Given the description of an element on the screen output the (x, y) to click on. 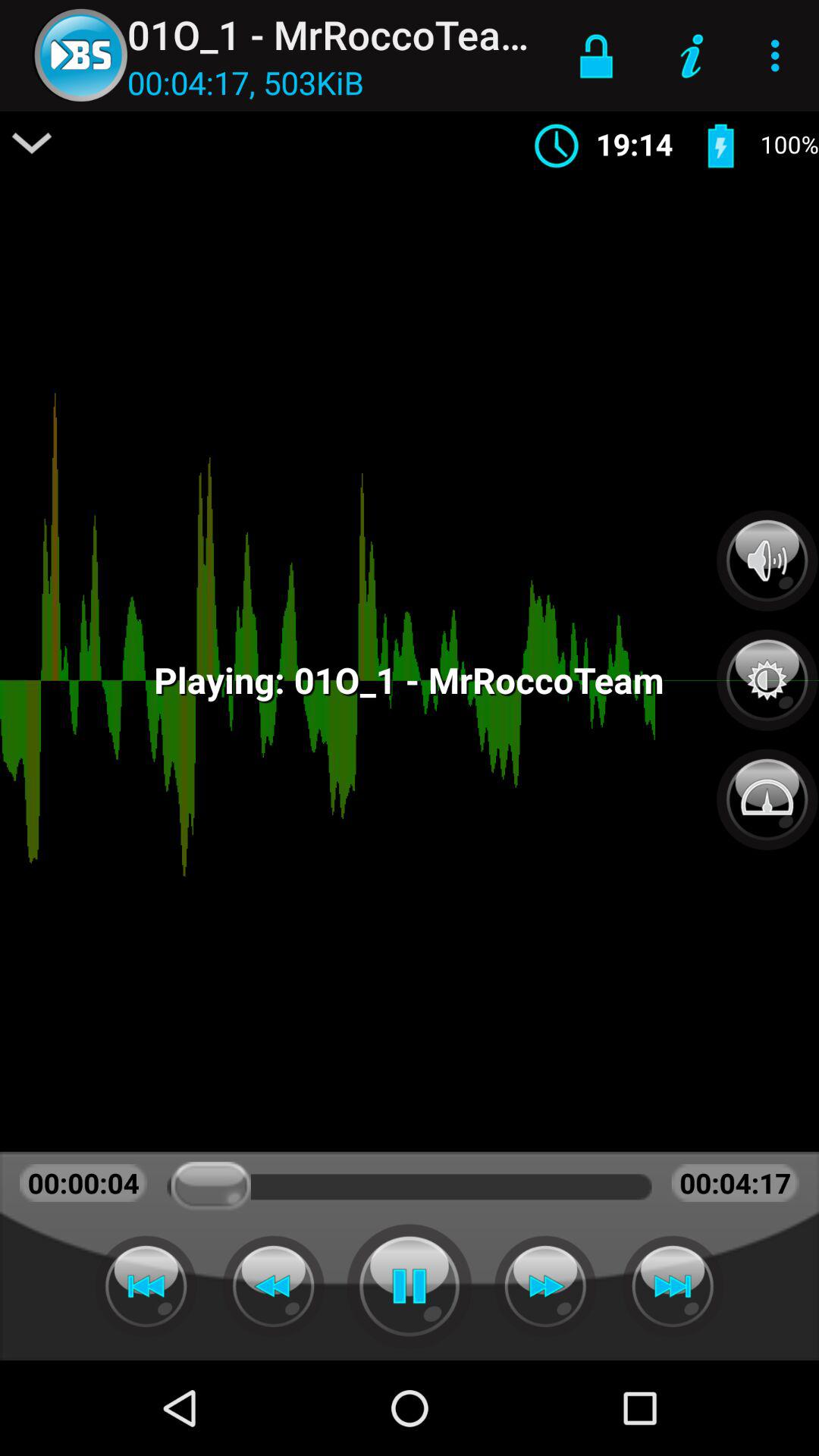
volume settings option (767, 560)
